Given the description of an element on the screen output the (x, y) to click on. 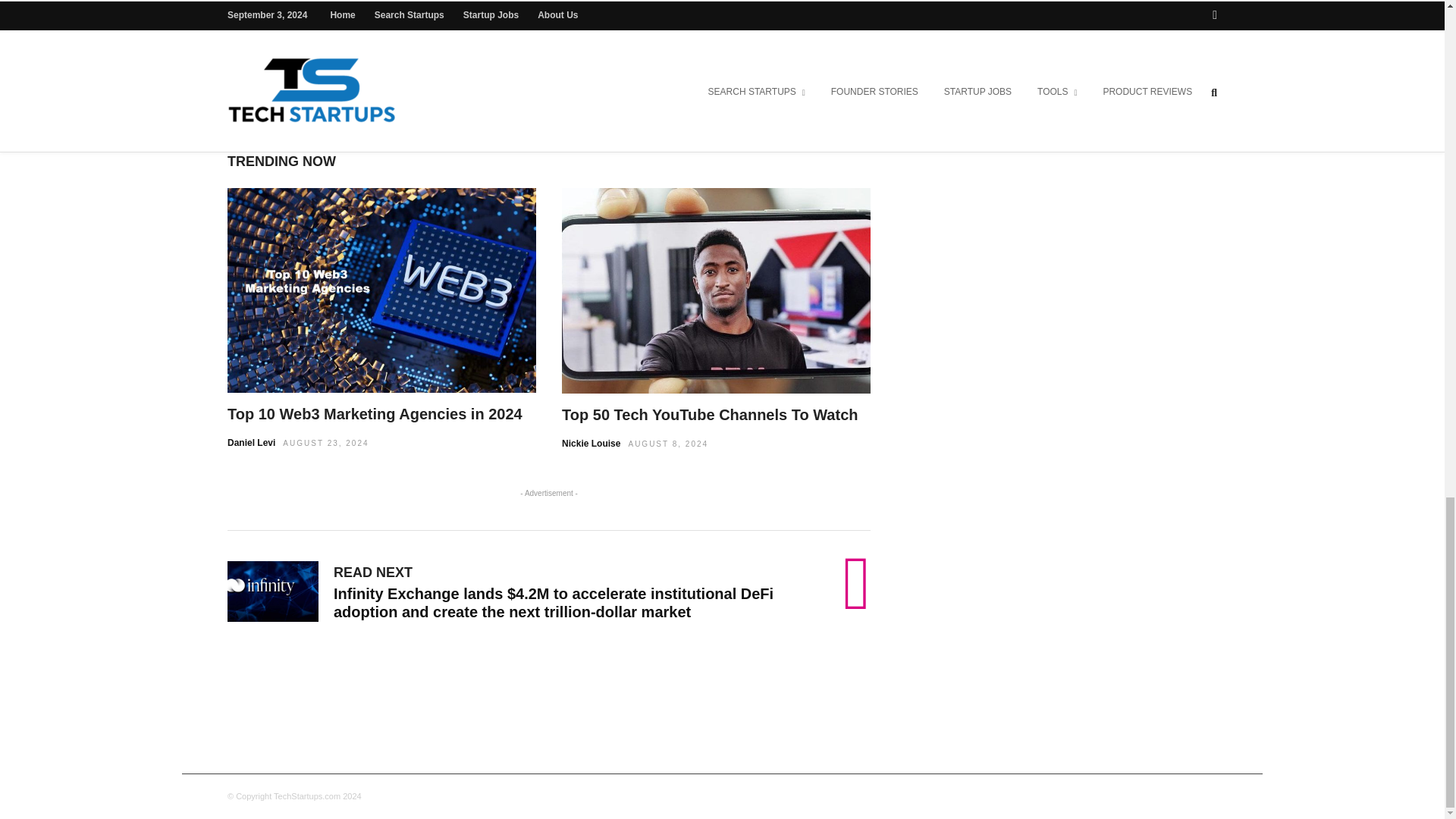
Share On Facebook (452, 66)
Share On Twitter (572, 66)
Share by Email (690, 66)
Share On Pinterest (642, 66)
Share On Facebook (452, 66)
